Given the description of an element on the screen output the (x, y) to click on. 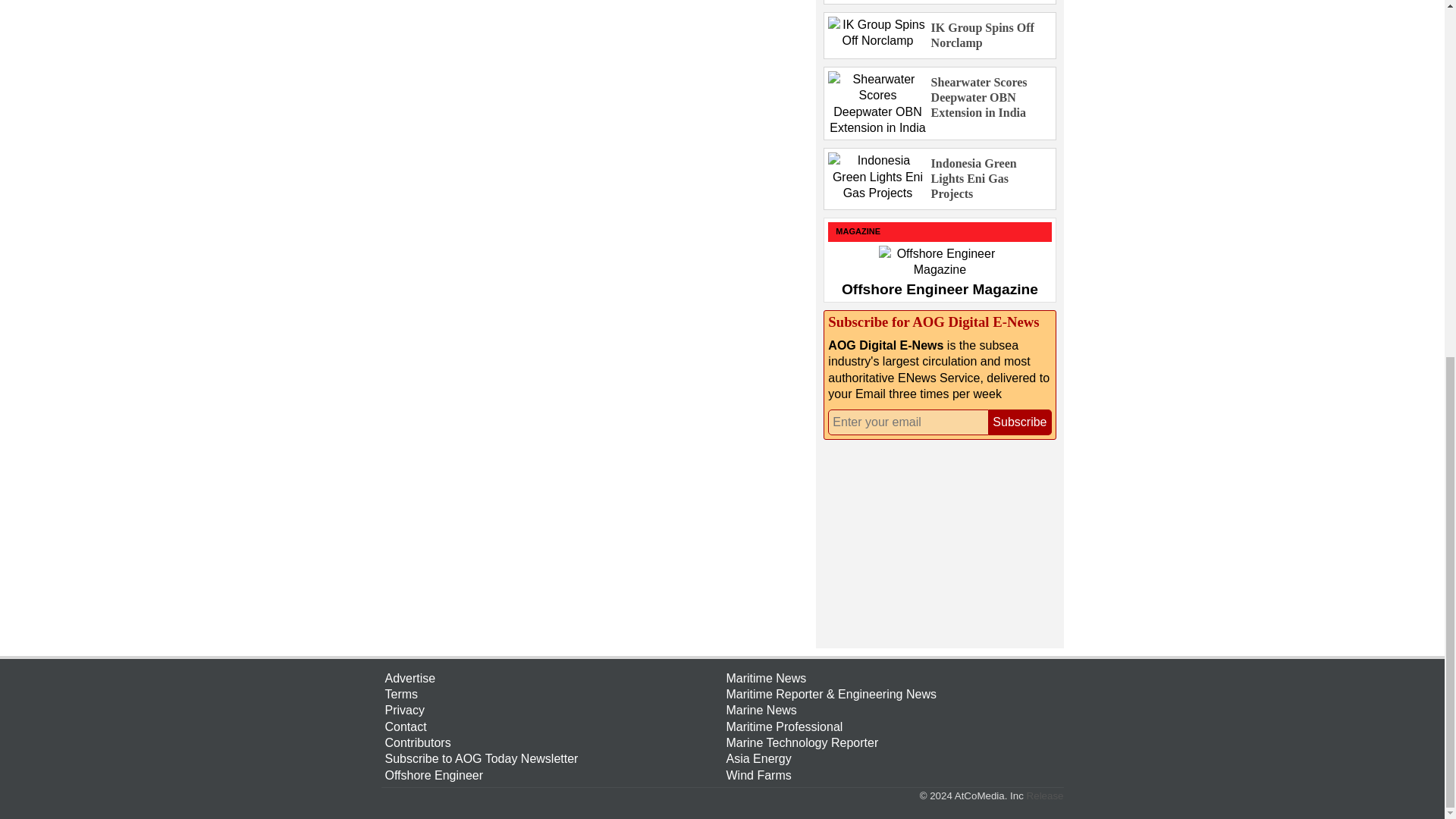
Contact Asian Oil and Gas team (552, 726)
Maritime Ligistics Professional (892, 726)
Asia Energy News (892, 758)
Wind Farms News (892, 774)
Subscribe for Ocean Engineer Magazine (552, 774)
Asian Oil and Gas Contributors (552, 742)
Asian Oil and Gas Privacy (552, 709)
Asian Oil and Gas Terms and Condition (552, 693)
Marine Technology (892, 742)
Asian Oil and Gas Adveritise (552, 678)
